Given the description of an element on the screen output the (x, y) to click on. 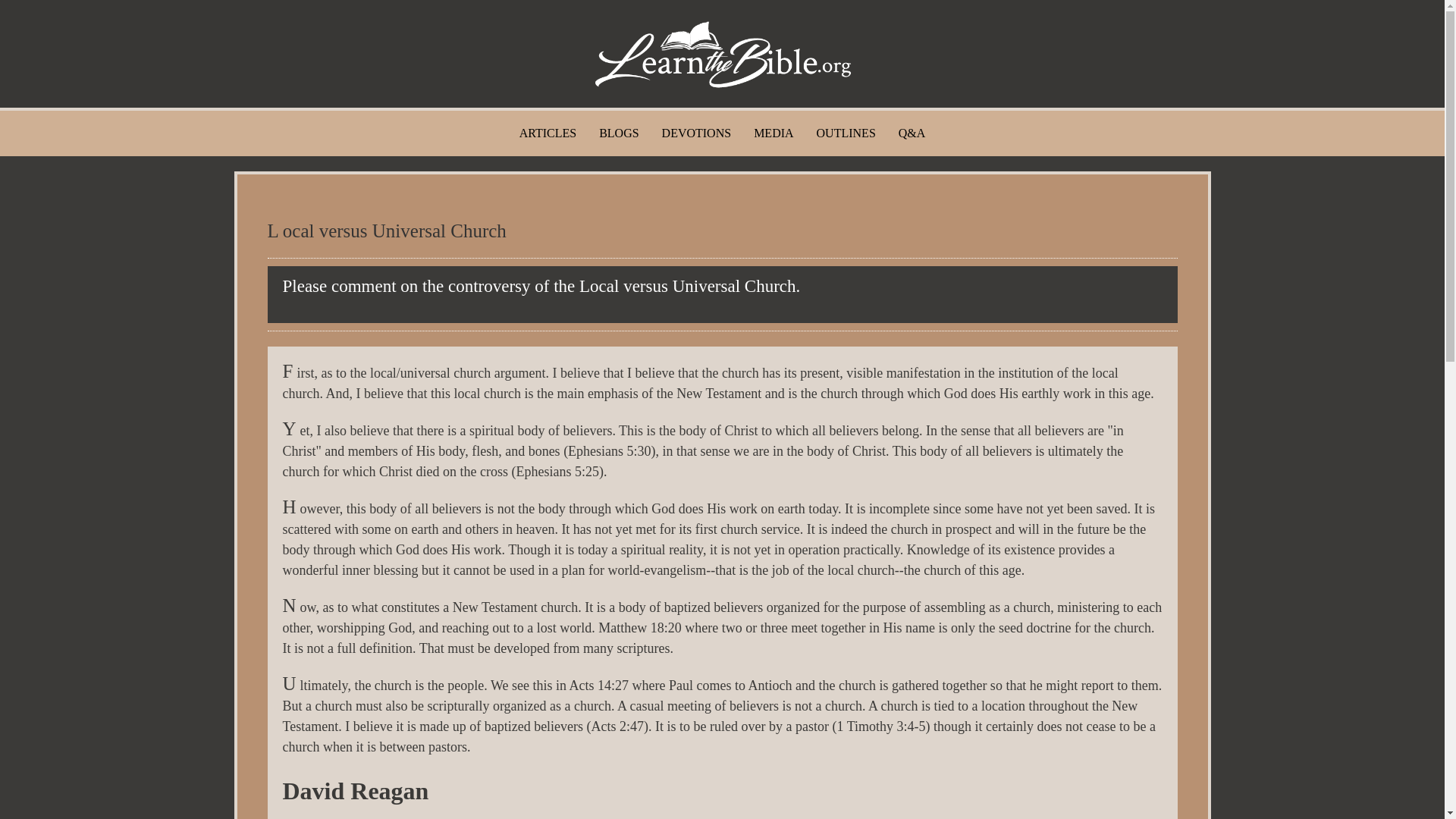
MEDIA (773, 133)
DEVOTIONS (696, 133)
ARTICLES (548, 133)
BLOGS (618, 133)
Home (722, 53)
David Reagan (355, 790)
OUTLINES (845, 133)
